Given the description of an element on the screen output the (x, y) to click on. 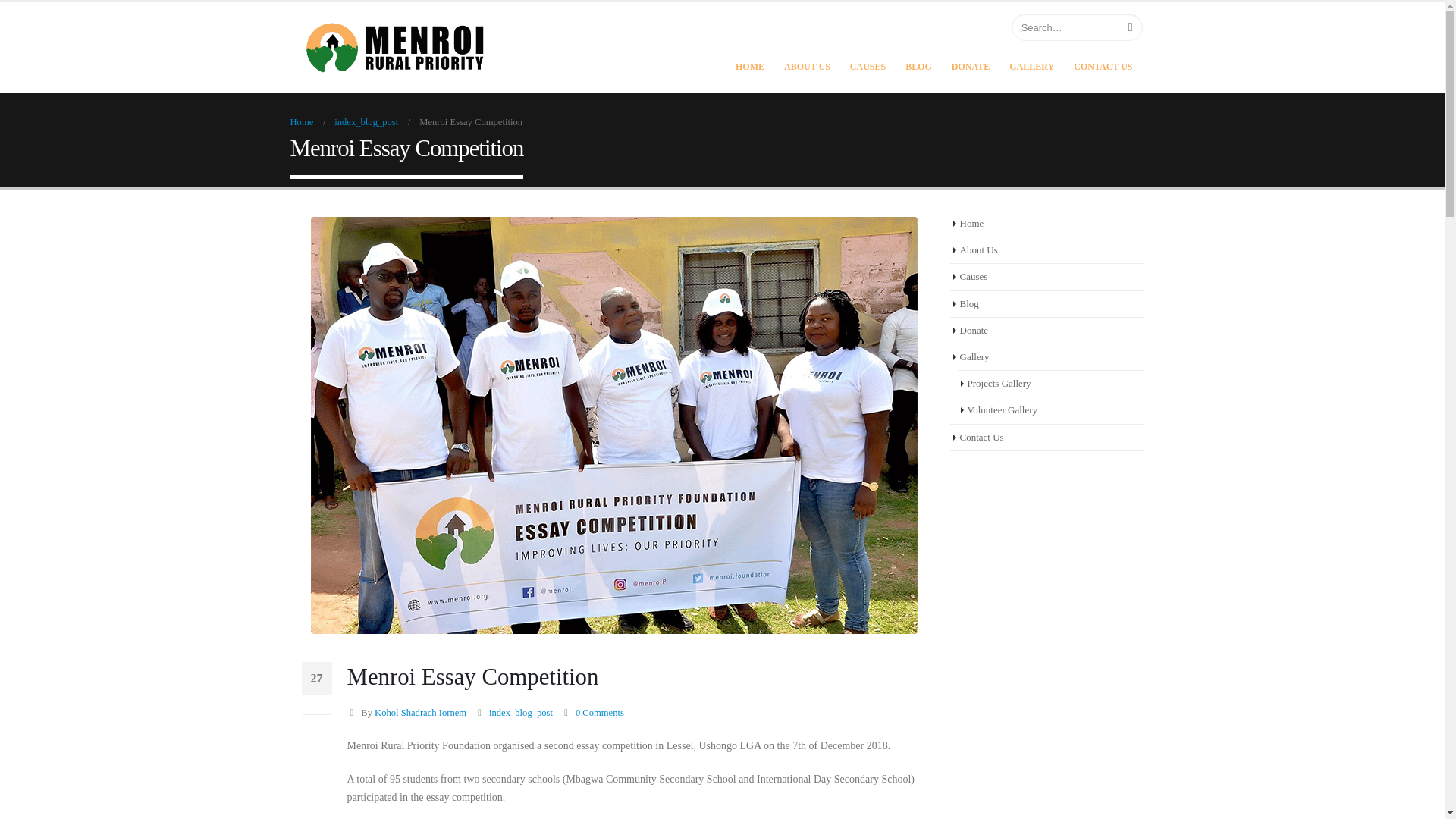
Kohol Shadrach Iornem (419, 712)
Go to Home Page (301, 122)
HOME (749, 66)
GALLERY (1031, 66)
Home (301, 122)
CONTACT US (1102, 66)
0 Comments (599, 712)
DONATE (970, 66)
ABOUT US (807, 66)
Menroi Rural Priority Foundation -  (396, 47)
